Given the description of an element on the screen output the (x, y) to click on. 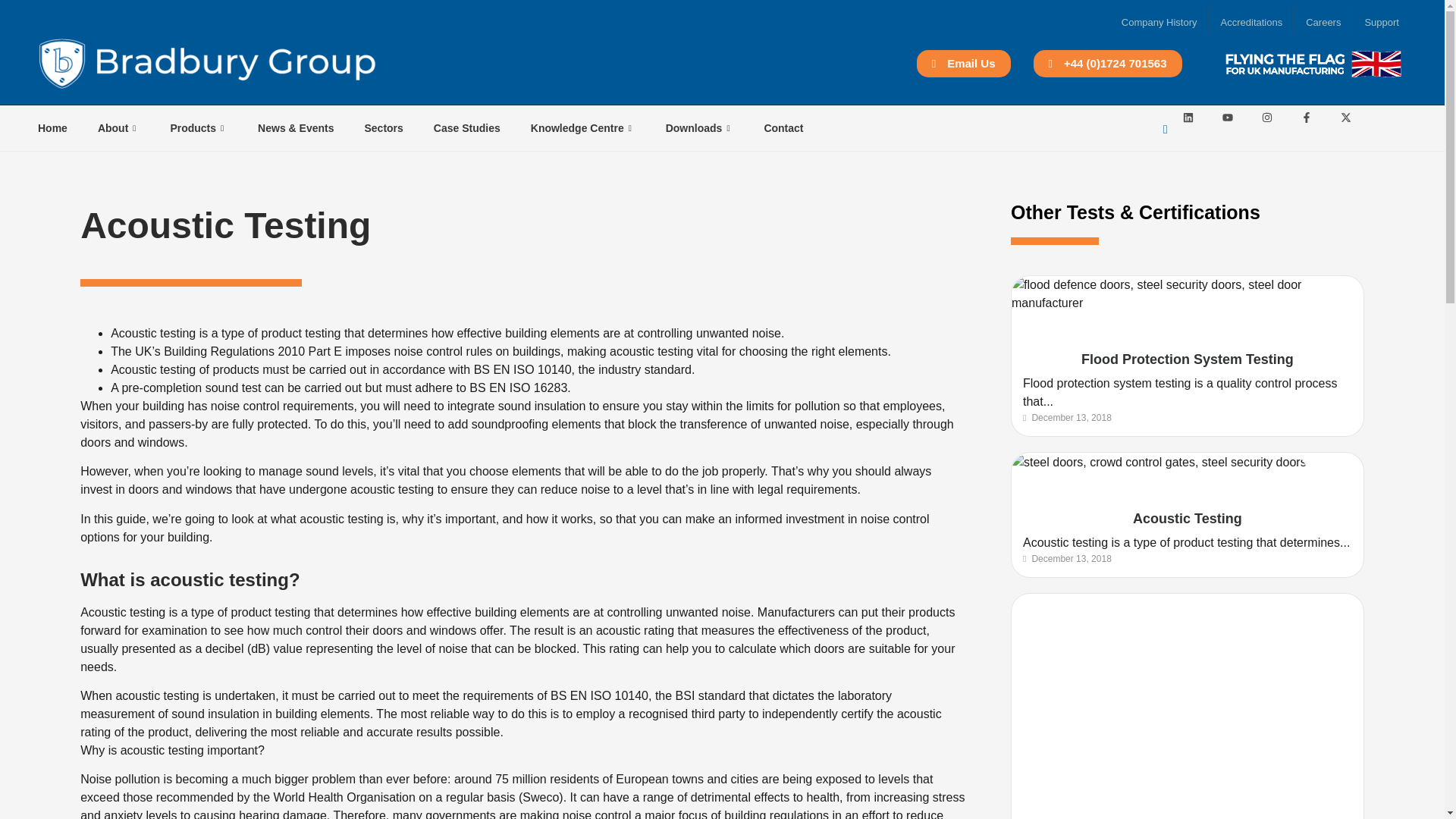
Support (1381, 22)
Bradbury Group Logo White (207, 63)
Acoustic Testing (1186, 518)
Email Us (963, 62)
Careers (1323, 22)
Company History (1158, 22)
Flood Protection System Testing (1187, 359)
Accreditations (1251, 22)
